Given the description of an element on the screen output the (x, y) to click on. 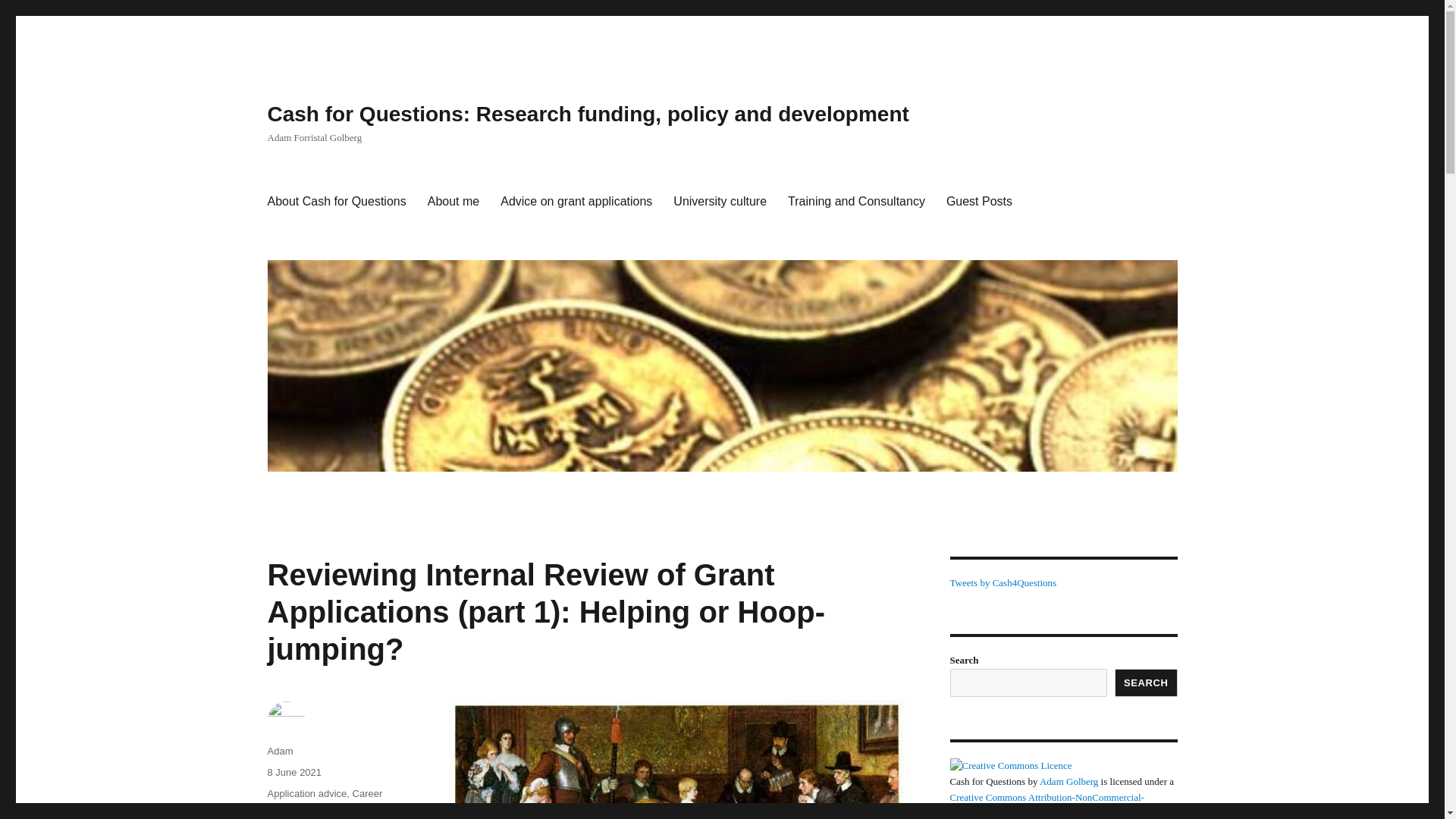
Cash for Questions: Research funding, policy and development (587, 114)
Training and Consultancy (856, 201)
Advice on grant applications (575, 201)
Tweets by Cash4Questions (1003, 582)
Career Young Researchers (323, 800)
Guest Posts (979, 201)
University culture (719, 201)
About me (452, 201)
Adam (279, 750)
About Cash for Questions (336, 201)
